Given the description of an element on the screen output the (x, y) to click on. 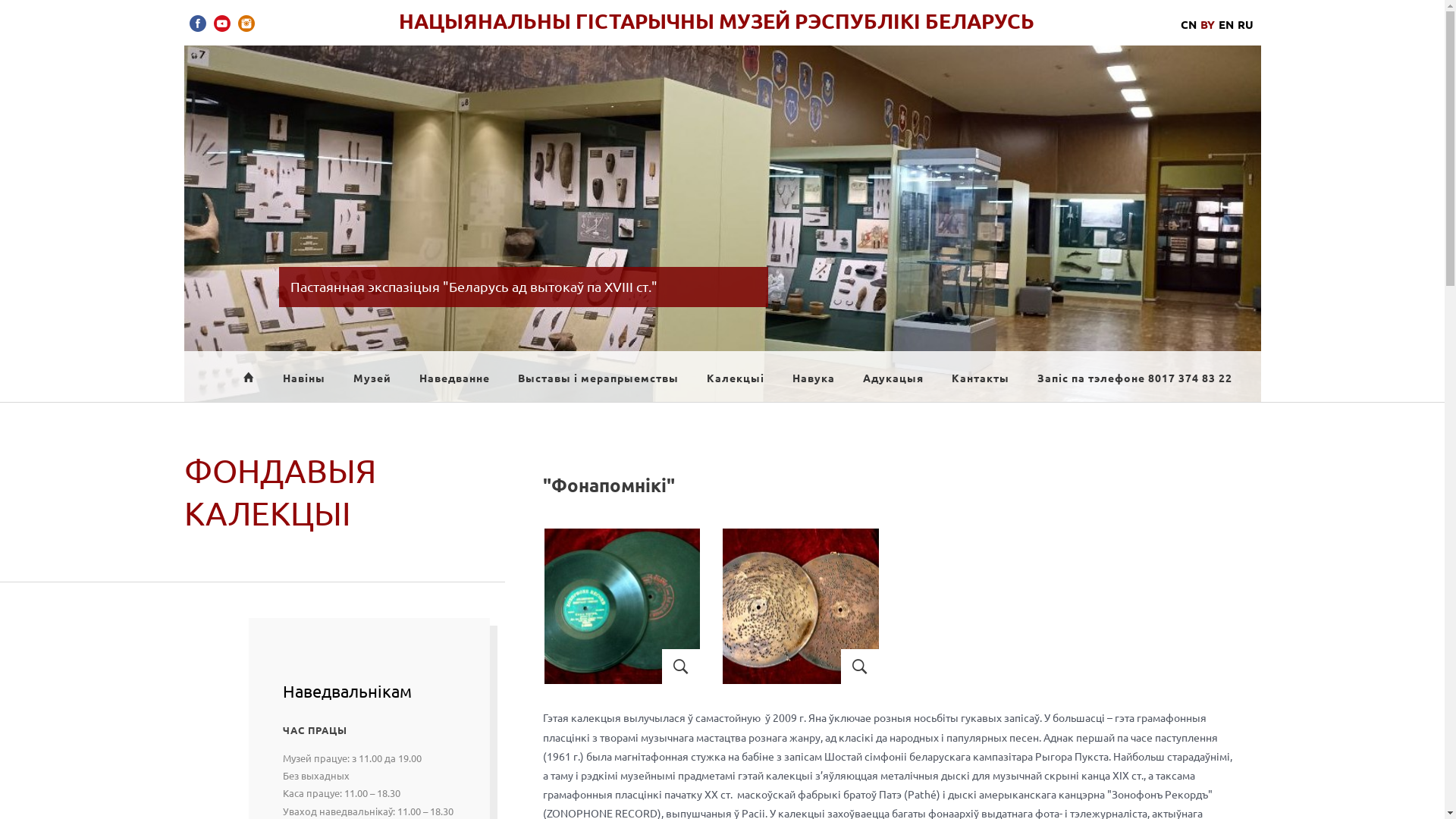
Facebook Element type: hover (197, 23)
instagram Element type: hover (246, 23)
YouTube Element type: hover (221, 23)
CN Element type: text (1187, 23)
BY Element type: text (1206, 23)
EN Element type: text (1225, 23)
RU Element type: text (1245, 23)
